Given the description of an element on the screen output the (x, y) to click on. 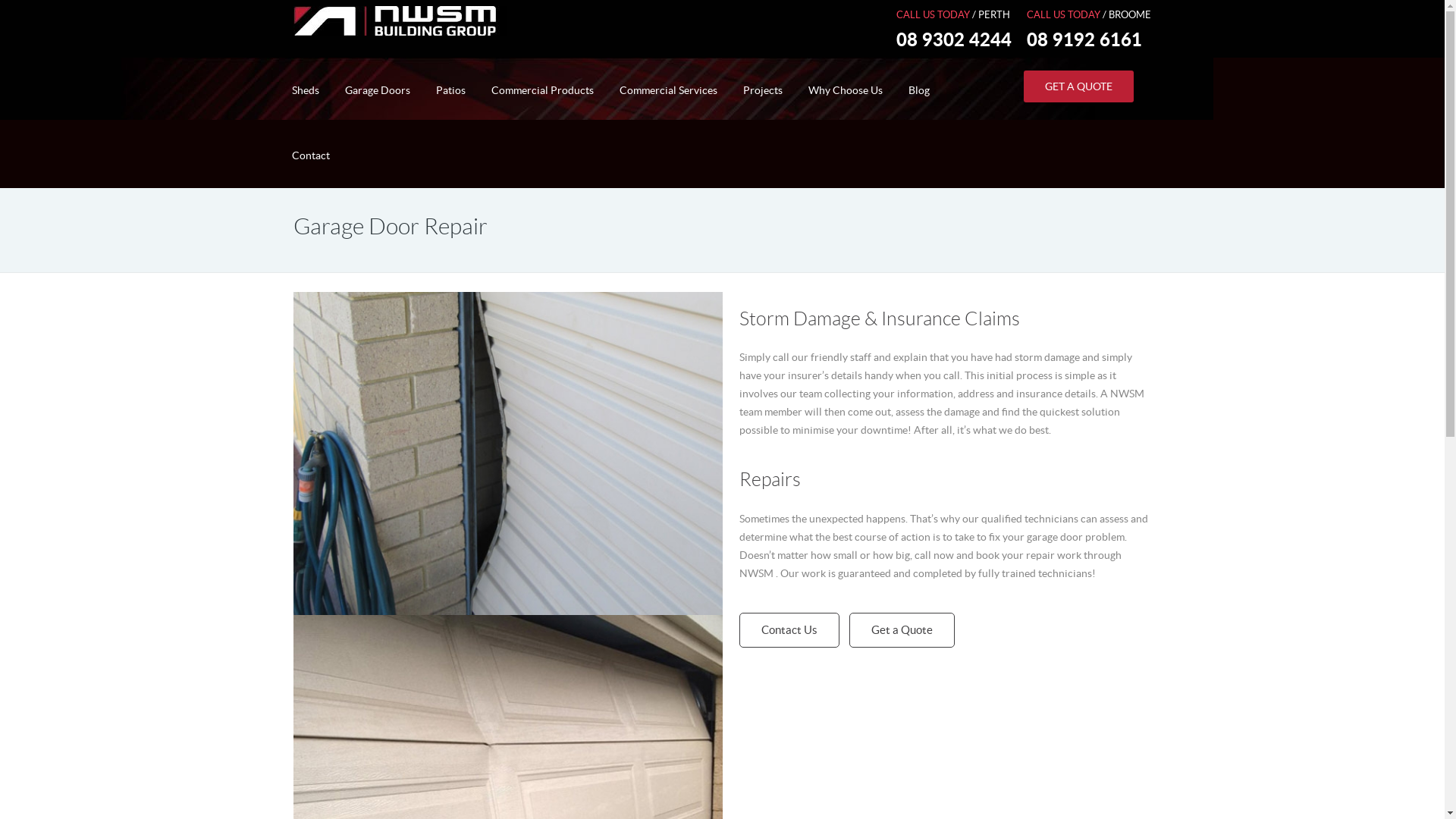
GET A QUOTE Element type: text (1078, 86)
Commercial Services Element type: text (668, 89)
Get a Quote Element type: text (901, 629)
Why Choose Us Element type: text (844, 89)
Contact Element type: text (310, 155)
08 9302 4244 Element type: text (953, 40)
Blog Element type: text (917, 89)
Contact Us Element type: text (789, 629)
Sheds Element type: text (305, 89)
Projects Element type: text (761, 89)
Patios Element type: text (450, 89)
Garage Doors Element type: text (377, 89)
Commercial Products Element type: text (541, 89)
08 9192 6161 Element type: text (1084, 40)
